Given the description of an element on the screen output the (x, y) to click on. 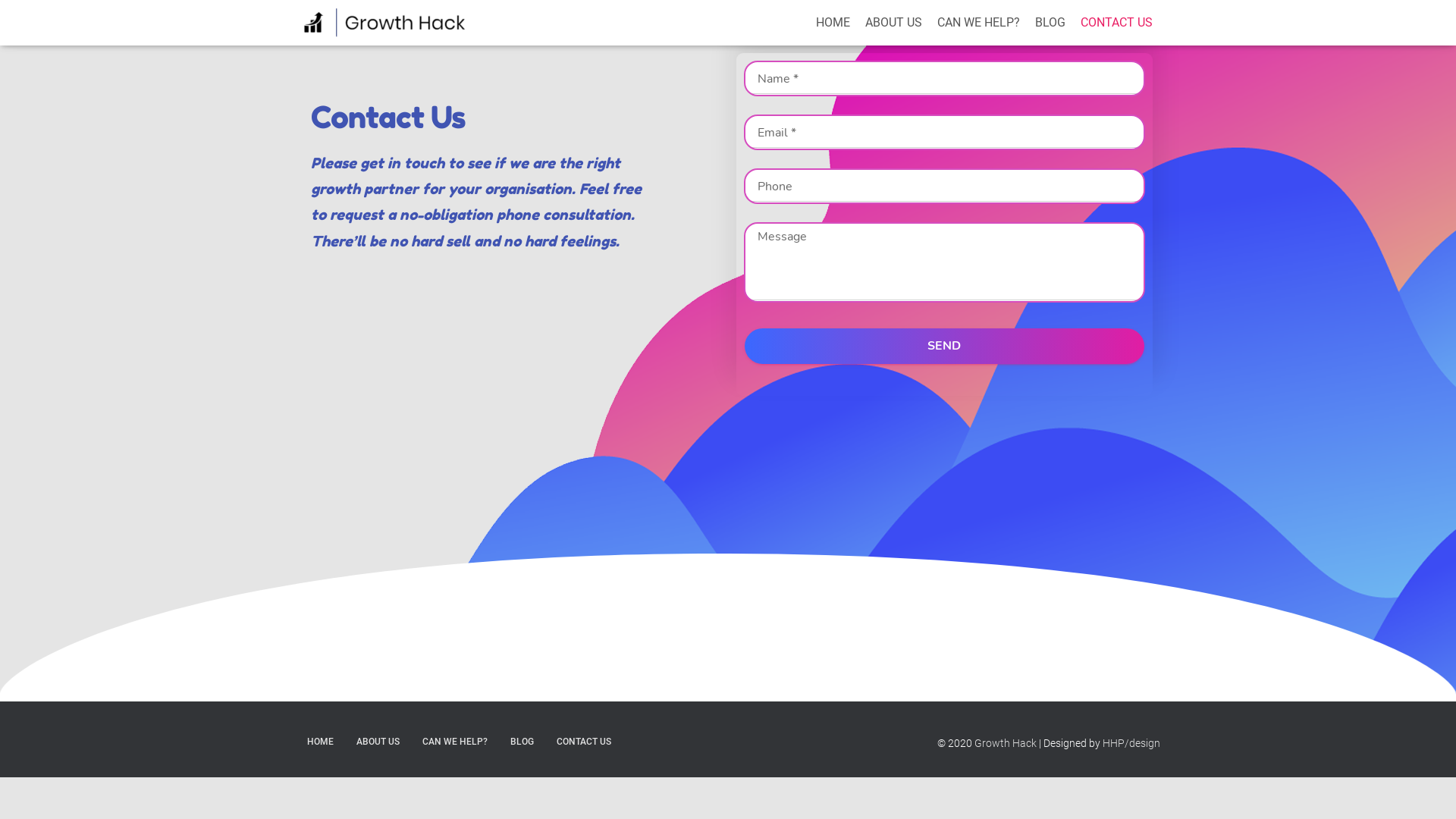
Growth Hack Element type: hover (384, 22)
CONTACT US Element type: text (583, 741)
CONTACT US Element type: text (1116, 22)
ABOUT US Element type: text (378, 741)
Growth Hack Element type: text (1005, 743)
BLOG Element type: text (1050, 22)
HHP/design Element type: text (1131, 743)
ABOUT US Element type: text (893, 22)
SEND Element type: text (944, 346)
HOME Element type: text (832, 22)
CAN WE HELP? Element type: text (978, 22)
BLOG Element type: text (521, 741)
HOME Element type: text (320, 741)
CAN WE HELP? Element type: text (454, 741)
